Given the description of an element on the screen output the (x, y) to click on. 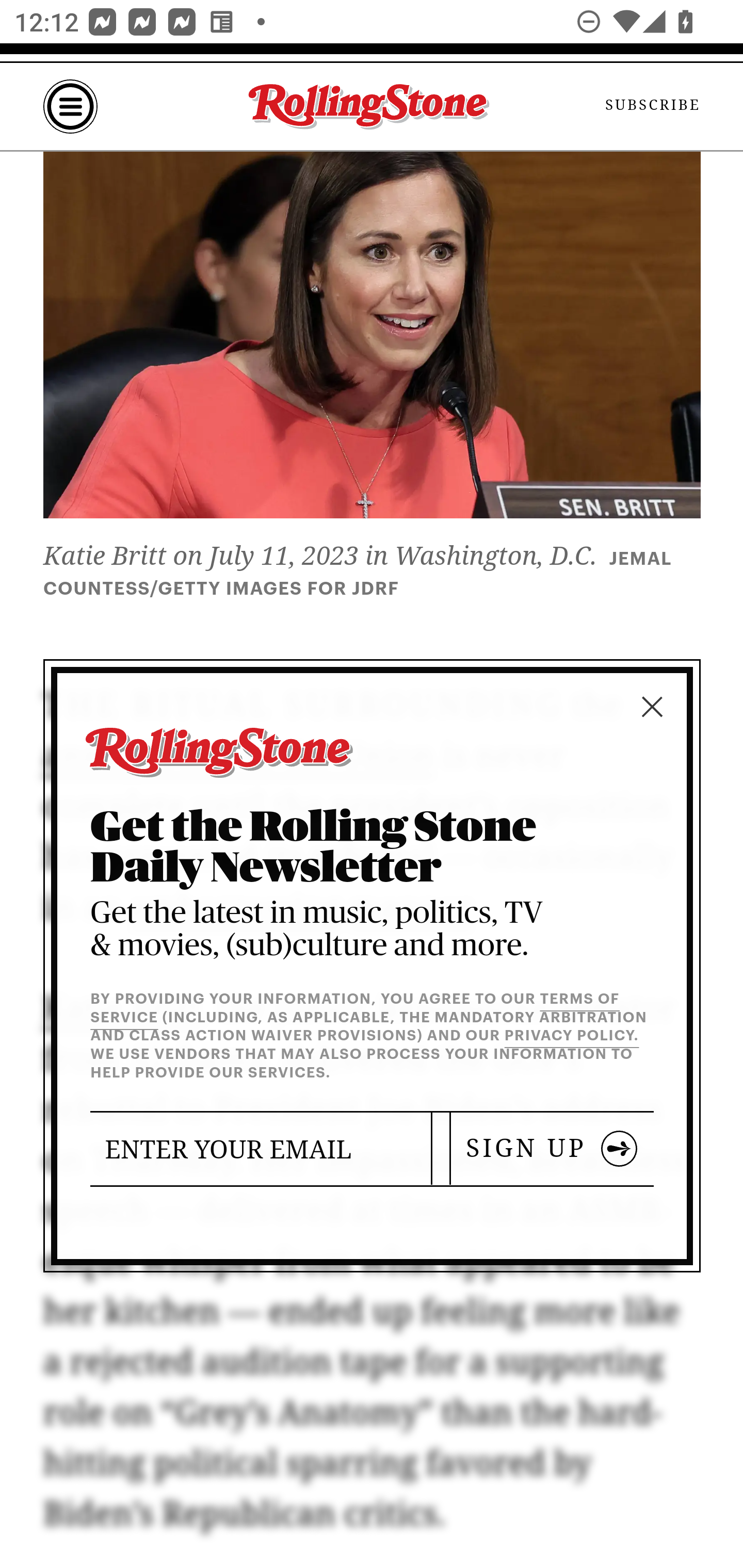
SIGN UP (551, 1148)
